Given the description of an element on the screen output the (x, y) to click on. 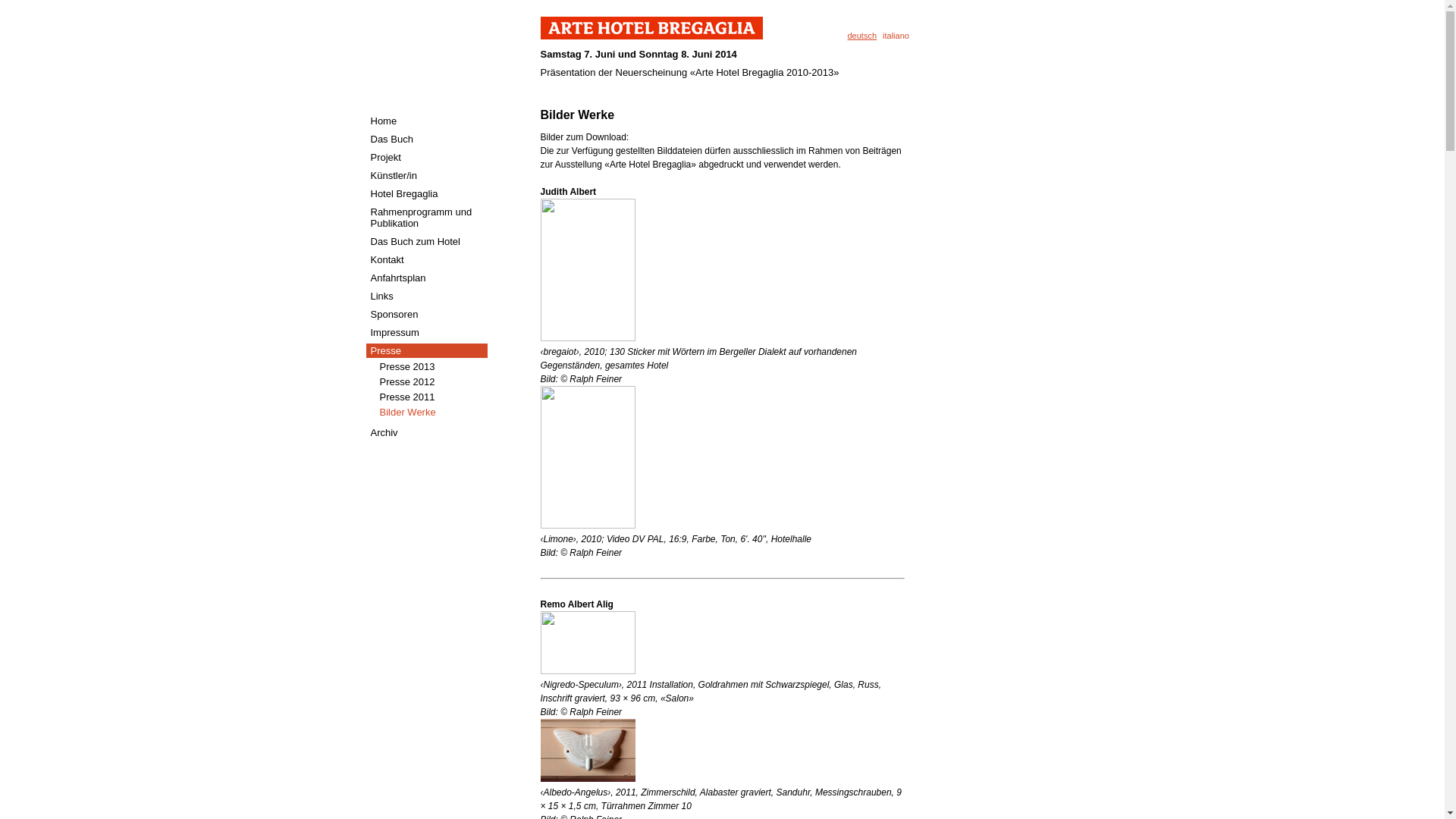
Archiv Element type: text (425, 432)
Sponsoren Element type: text (425, 314)
Anfahrtsplan Element type: text (425, 277)
Presse 2011 Element type: text (425, 396)
Rahmenprogramm und Publikation Element type: text (425, 217)
Presse 2012 Element type: text (425, 381)
Das Buch Element type: text (425, 138)
deutsch Element type: text (862, 35)
Hotel Bregaglia Element type: text (425, 193)
Home Element type: text (425, 120)
Presse 2013 Element type: text (425, 366)
Bilder Werke Element type: text (425, 411)
Links Element type: text (425, 295)
Projekt Element type: text (425, 157)
italiano Element type: text (895, 35)
Impressum Element type: text (425, 332)
Das Buch zum Hotel Element type: text (425, 241)
Presse Element type: text (425, 350)
Kontakt Element type: text (425, 259)
